Given the description of an element on the screen output the (x, y) to click on. 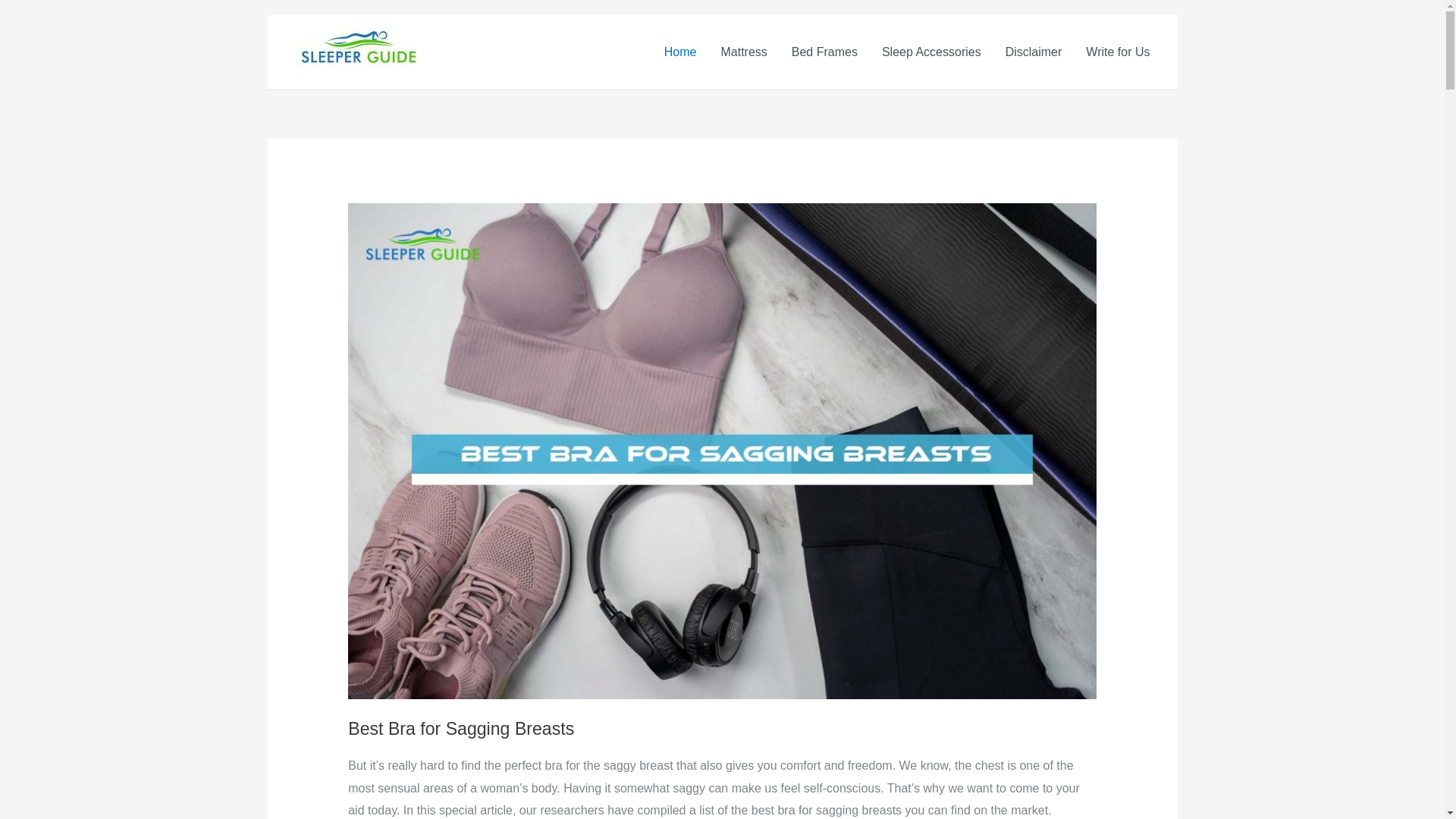
Best Bra for Sagging Breasts (460, 728)
Sleep Accessories (930, 52)
Write for Us (1117, 52)
Bed Frames (823, 52)
Mattress (742, 52)
Disclaimer (1033, 52)
